Given the description of an element on the screen output the (x, y) to click on. 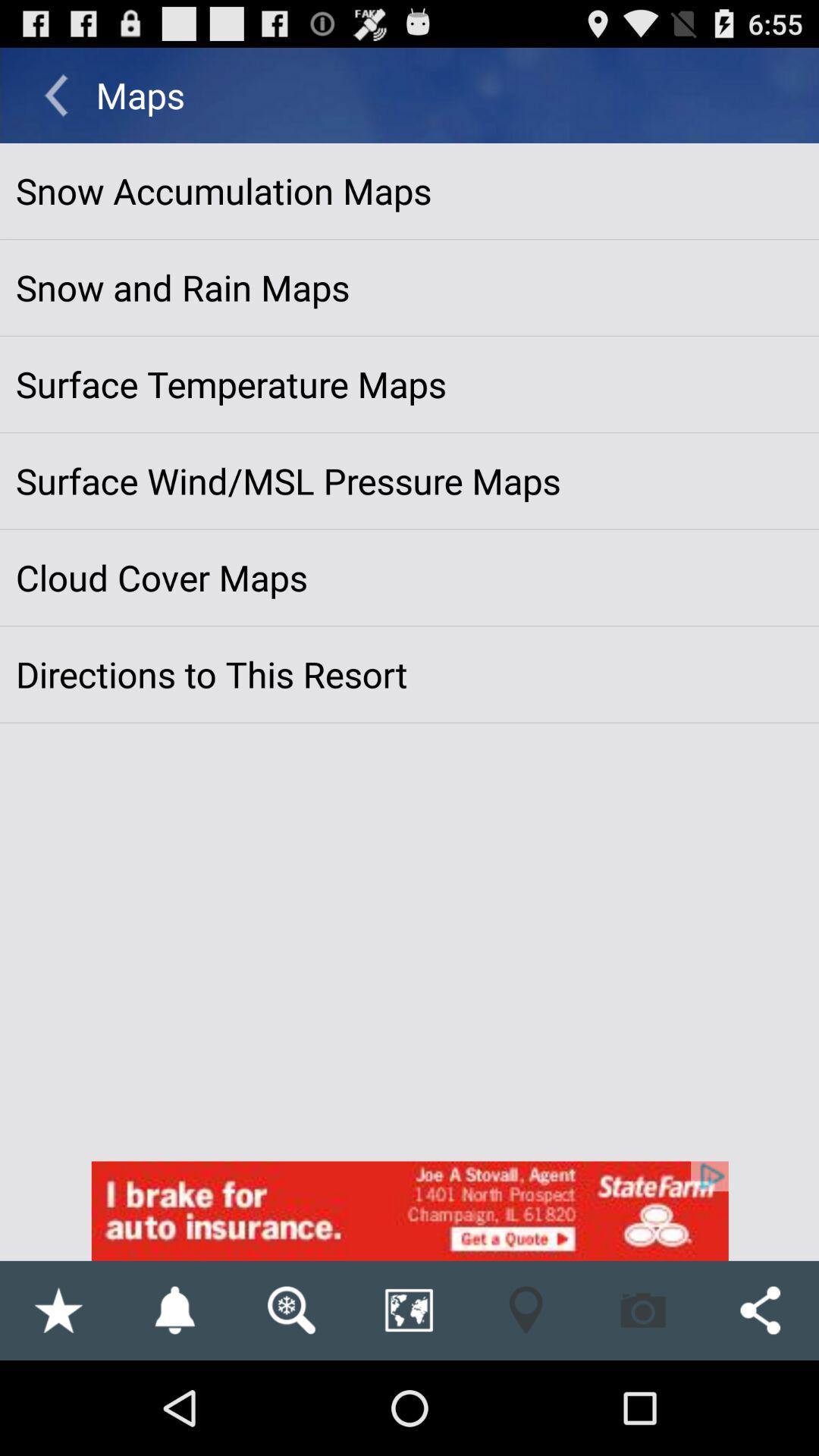
enable location (525, 1310)
